Given the description of an element on the screen output the (x, y) to click on. 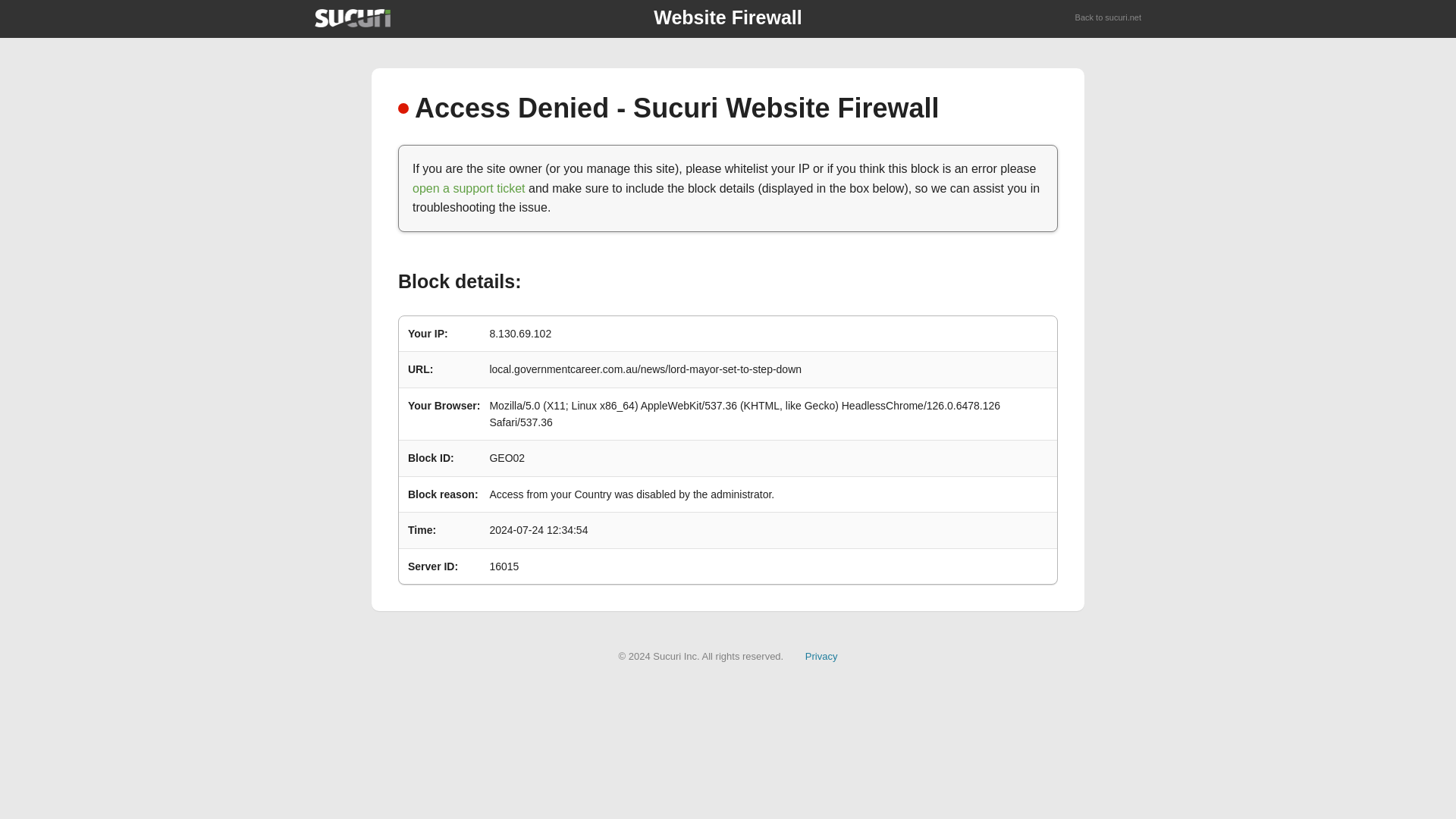
Back to sucuri.net (1108, 18)
open a support ticket (468, 187)
Privacy (821, 655)
